Given the description of an element on the screen output the (x, y) to click on. 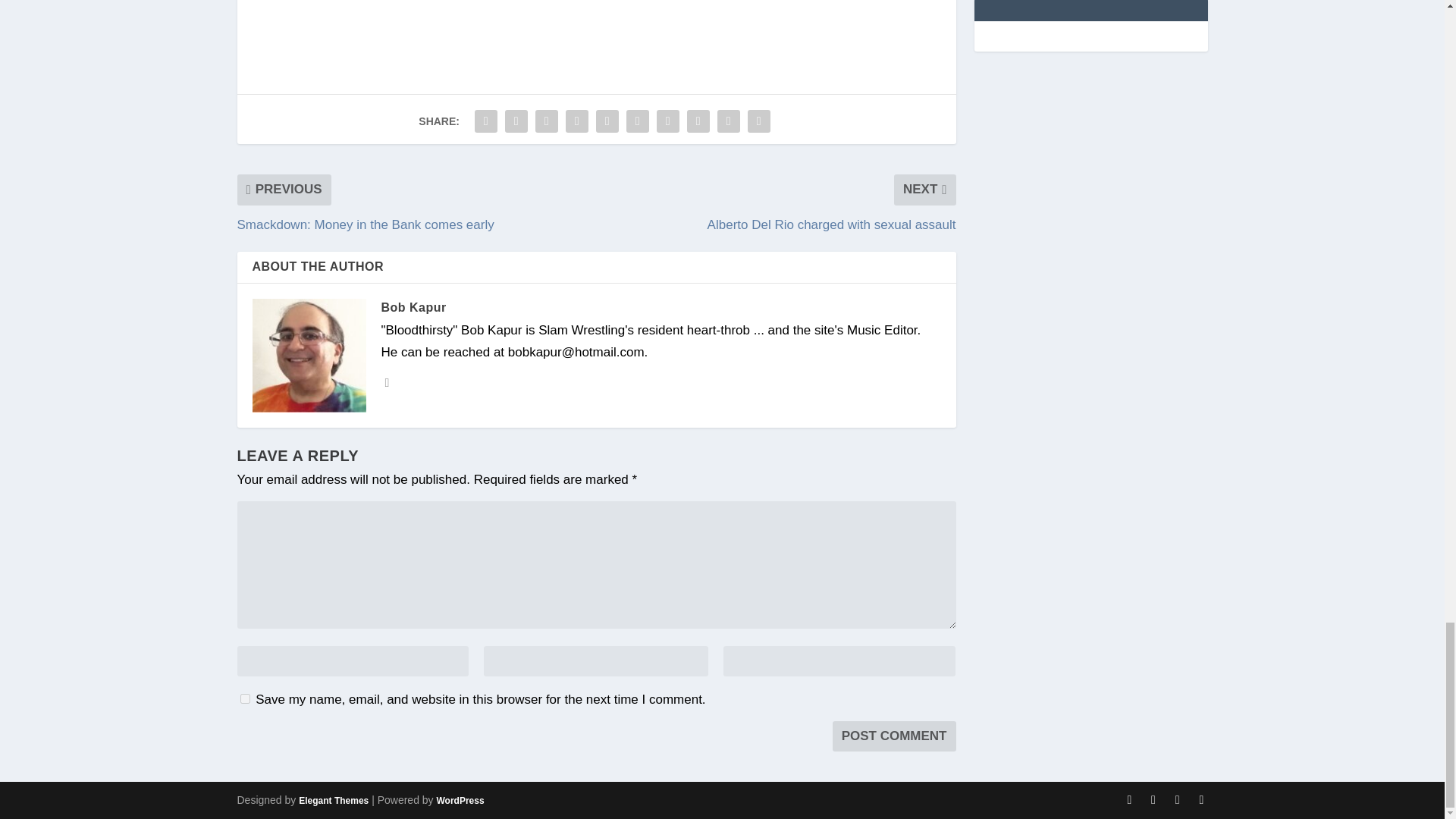
yes (244, 698)
View all posts by Bob Kapur (412, 307)
Post Comment (894, 736)
